Given the description of an element on the screen output the (x, y) to click on. 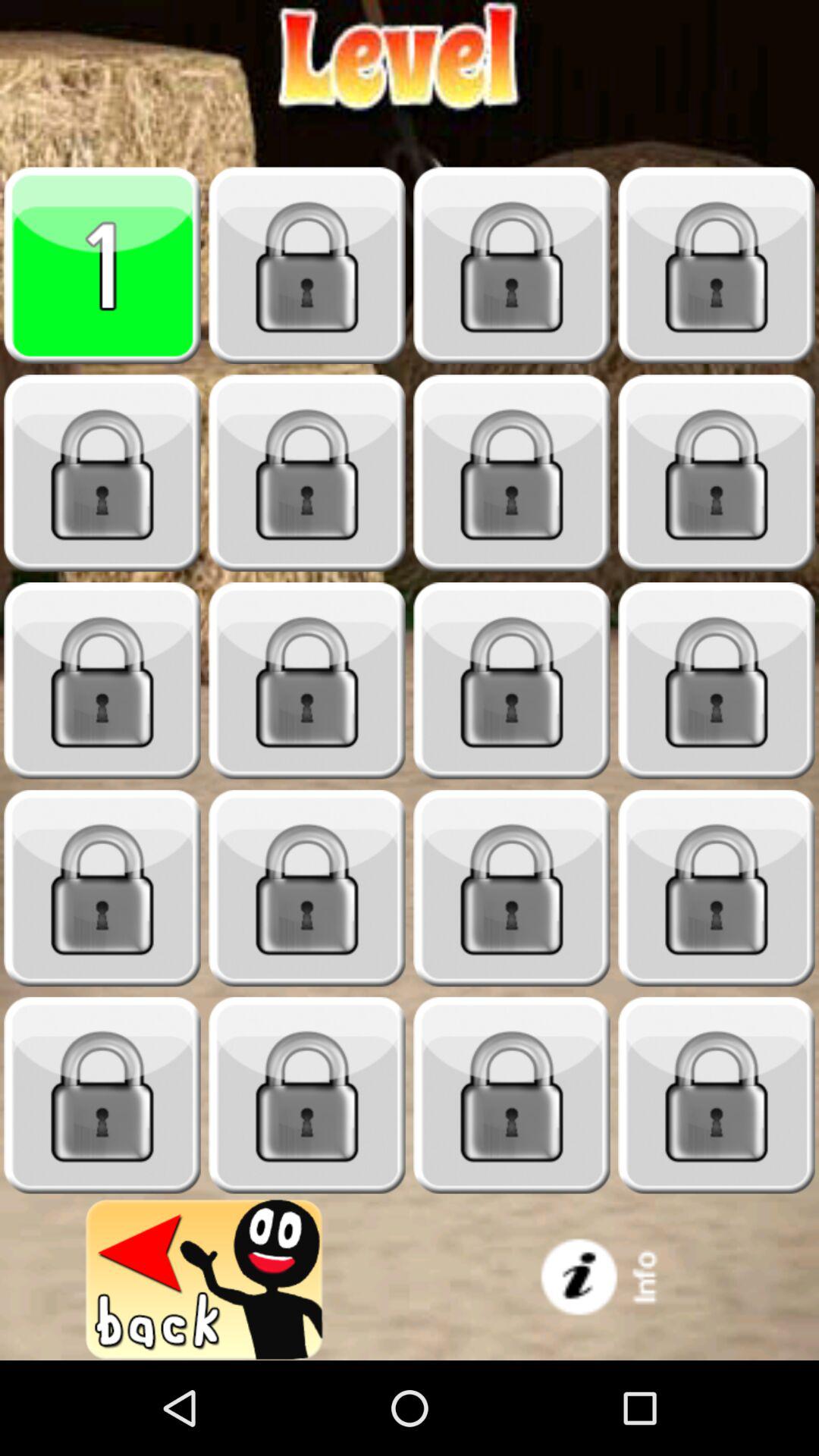
lock button (716, 680)
